Given the description of an element on the screen output the (x, y) to click on. 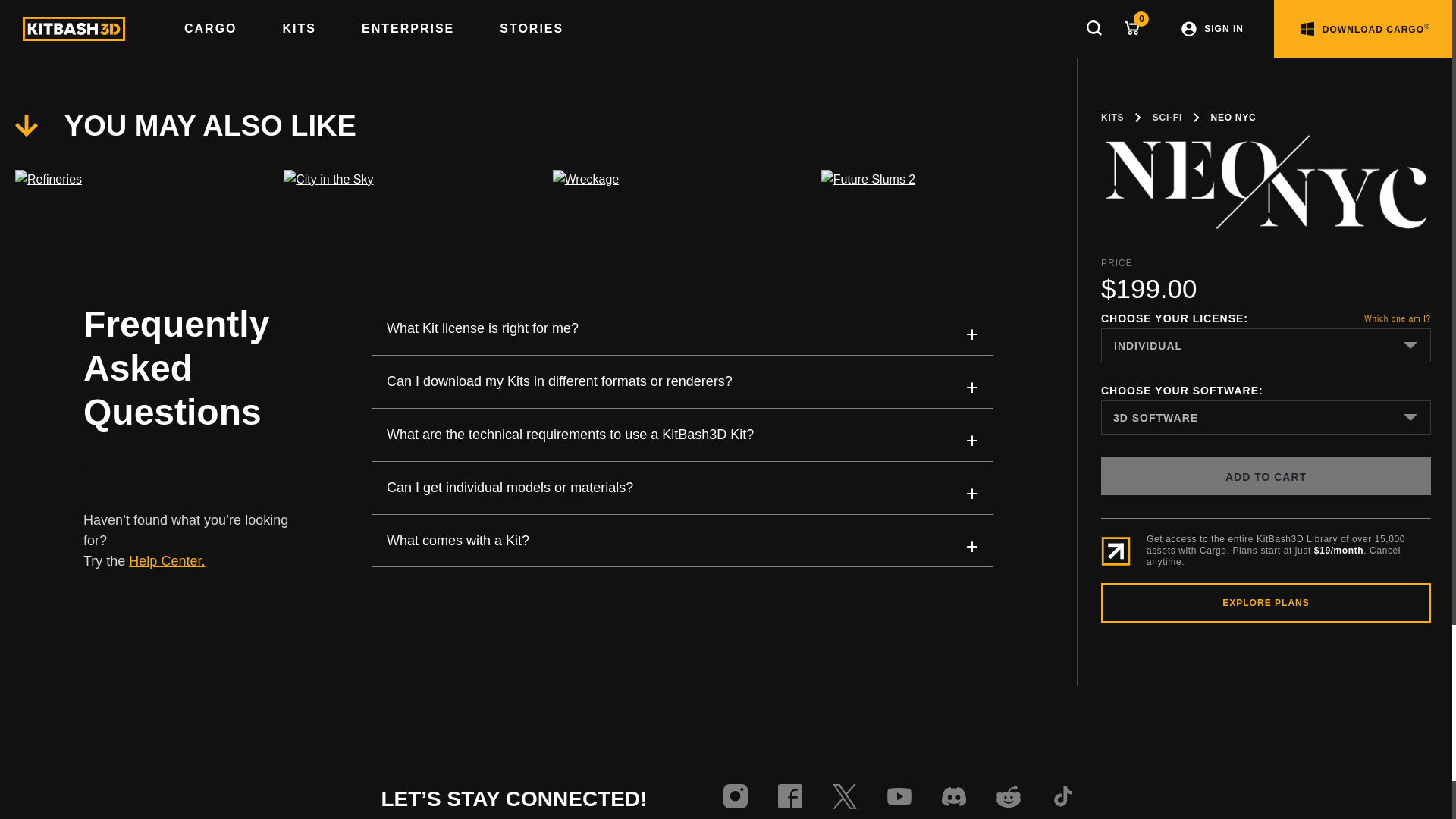
Youtube (898, 798)
Help Center. (167, 560)
Discord (954, 799)
